Given the description of an element on the screen output the (x, y) to click on. 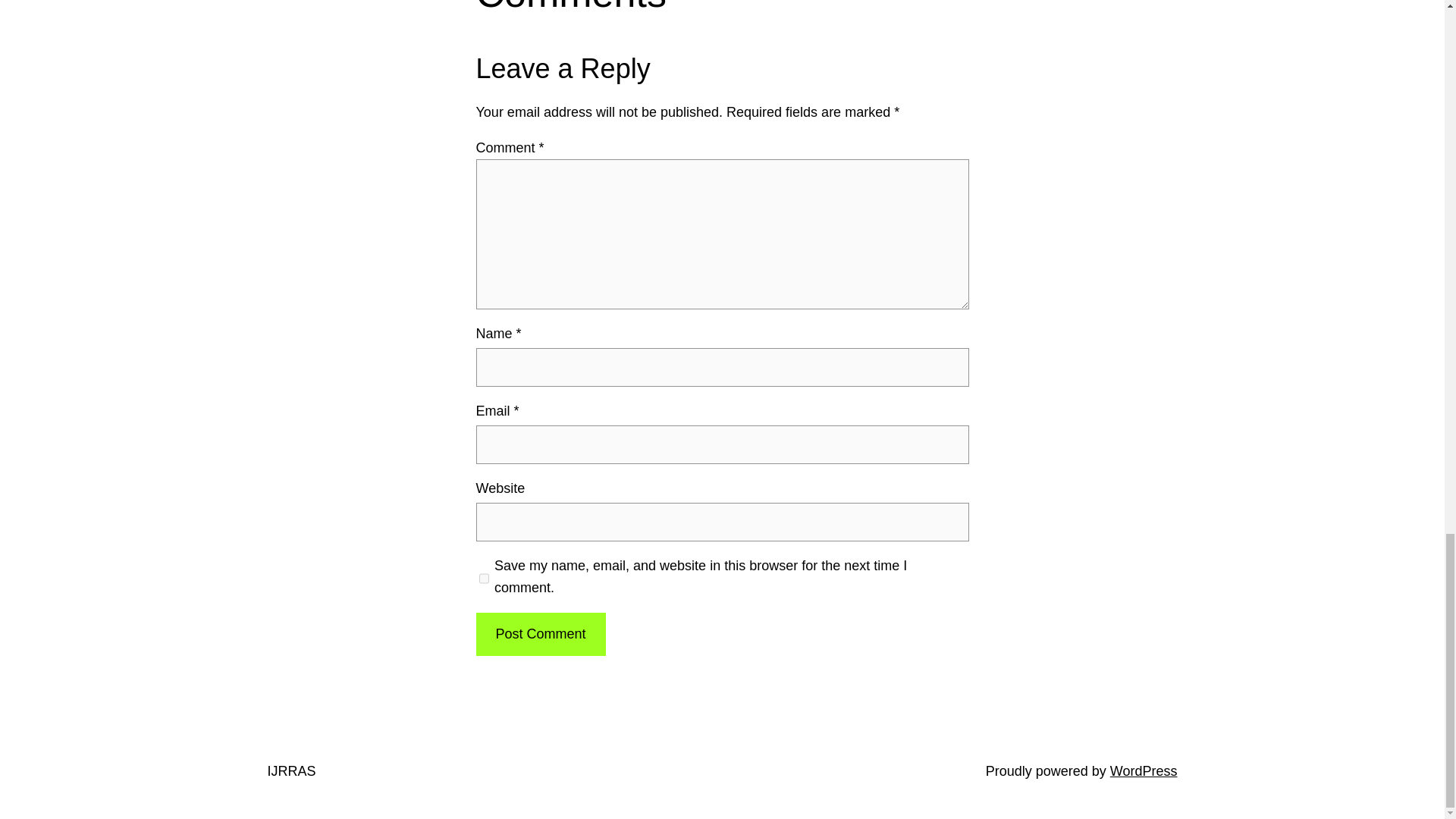
IJRRAS (290, 770)
WordPress (1143, 770)
Post Comment (540, 634)
Post Comment (540, 634)
